Given the description of an element on the screen output the (x, y) to click on. 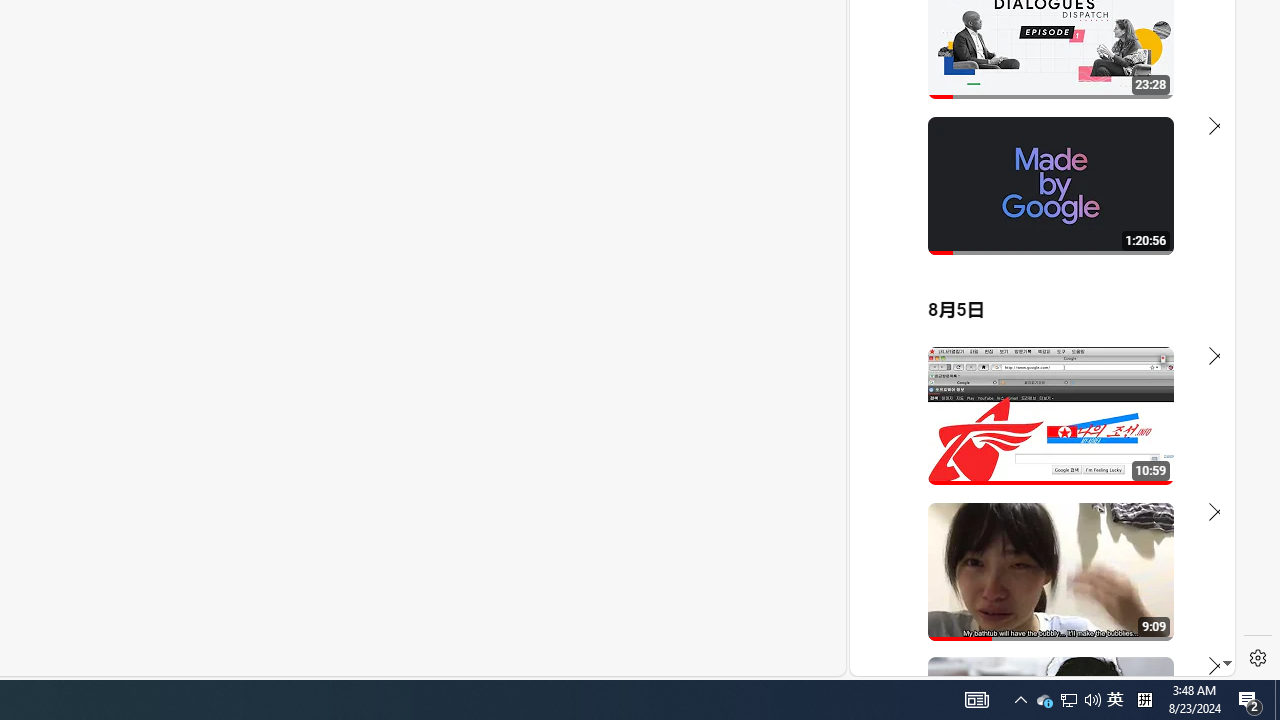
Click to scroll right (1196, 83)
US[ju] (917, 660)
you (1034, 609)
Class: dict_pnIcon rms_img (1028, 660)
YouTube - YouTube (1034, 266)
YouTube (1034, 432)
